Given the description of an element on the screen output the (x, y) to click on. 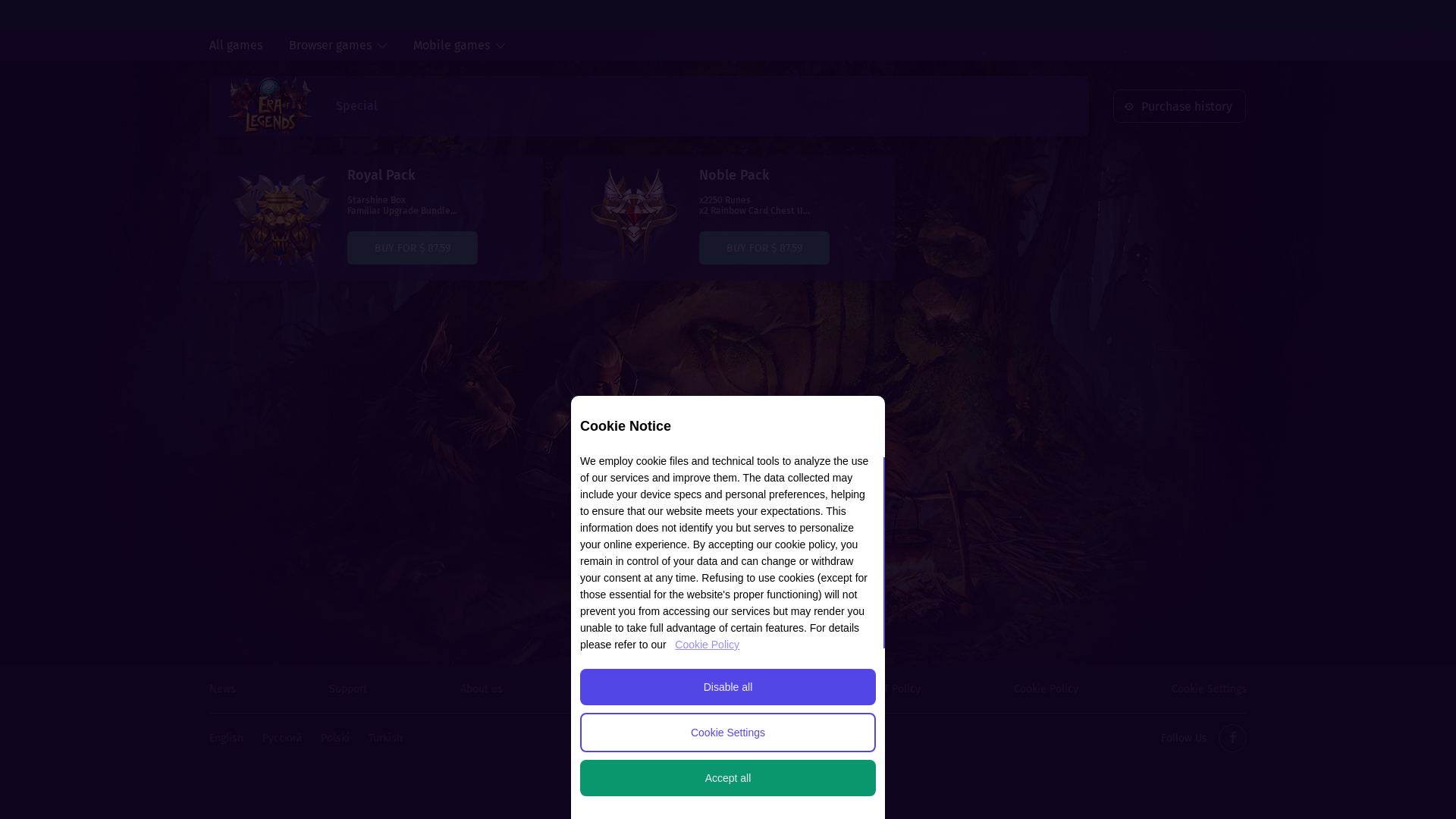
English Element type: text (226, 737)
Cookie Policy Element type: text (706, 644)
News Element type: text (222, 688)
Purchase history Element type: text (1178, 106)
Mobile games Element type: text (451, 45)
EULA Element type: text (607, 688)
BUY FOR $ 87.59 Element type: text (764, 247)
All games Element type: text (235, 45)
Privacy Policy Element type: text (745, 688)
Special Element type: text (356, 105)
Support Element type: text (348, 688)
BUY FOR $ 87.59 Element type: text (412, 247)
VAT Policy Element type: text (896, 688)
Polski Element type: text (334, 737)
Browser games Element type: text (329, 45)
About us Element type: text (481, 688)
Turkish Element type: text (385, 737)
Cookie Policy Element type: text (1045, 688)
